Given the description of an element on the screen output the (x, y) to click on. 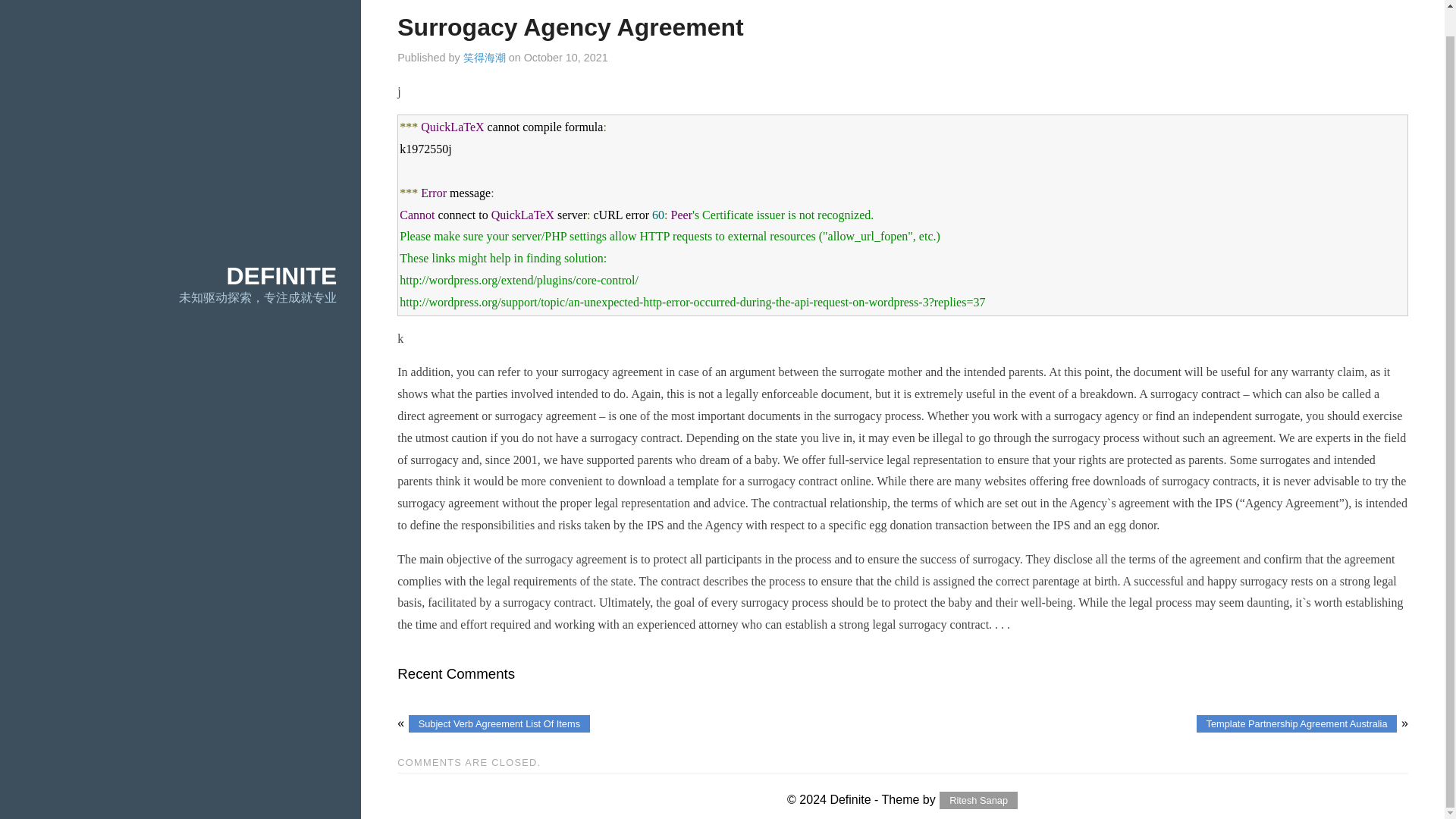
Ritesh Sanap (977, 800)
Subject Verb Agreement List Of Items (499, 723)
DEFINITE (280, 275)
Template Partnership Agreement Australia (1296, 723)
